Given the description of an element on the screen output the (x, y) to click on. 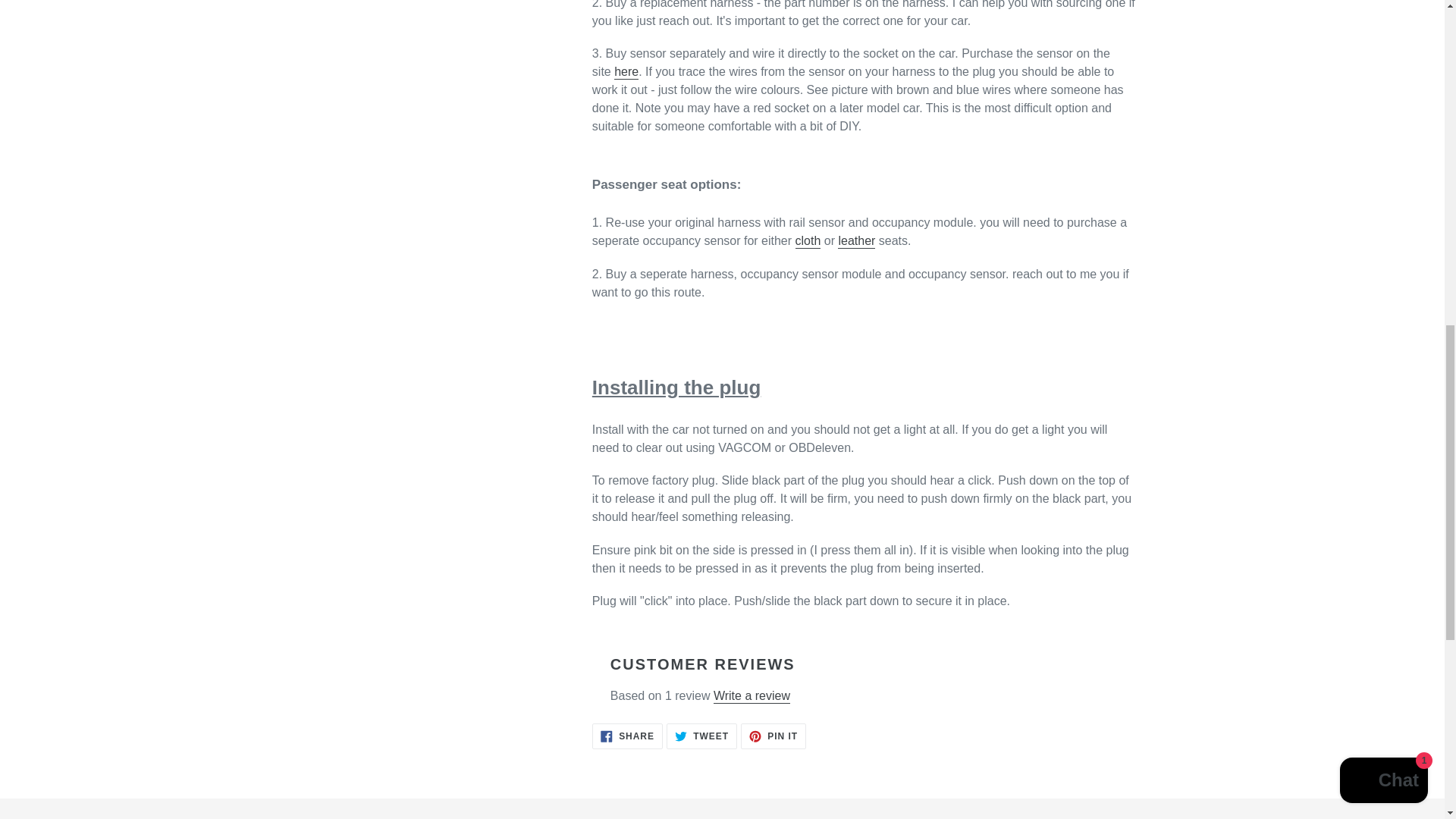
Write a review (773, 736)
here (751, 696)
cloth (626, 72)
MQB Rail Position Sensor (807, 241)
leather (626, 72)
